Given the description of an element on the screen output the (x, y) to click on. 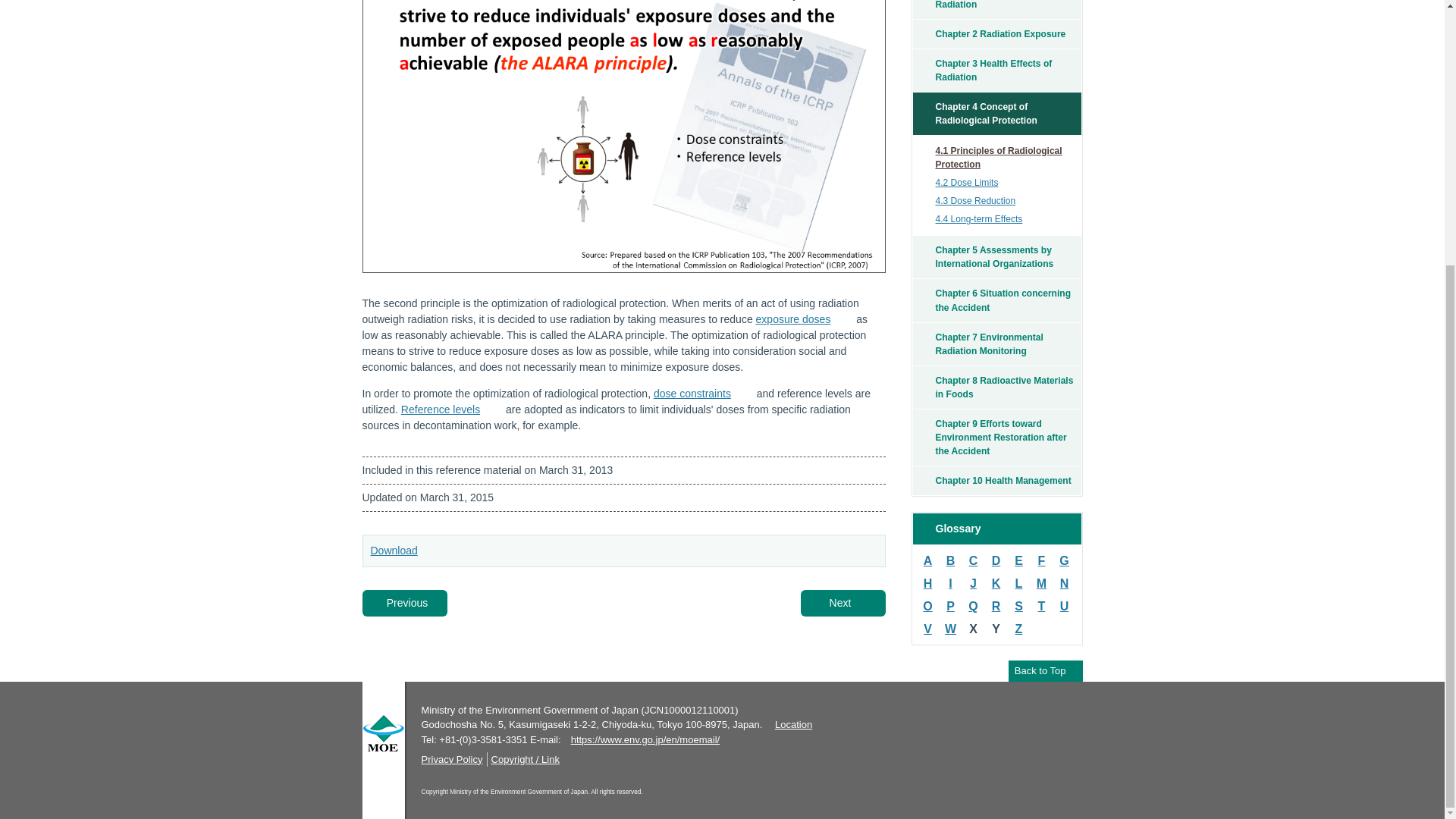
Previous (404, 602)
Chapter 3 Health Effects of Radiation (996, 70)
exposure doses (804, 318)
Chapter 1 Basic Knowledge on Radiation (996, 9)
Next (842, 602)
Download (404, 550)
dose constraints (703, 393)
Chapter 2 Radiation Exposure (996, 33)
Reference levels (451, 409)
